Given the description of an element on the screen output the (x, y) to click on. 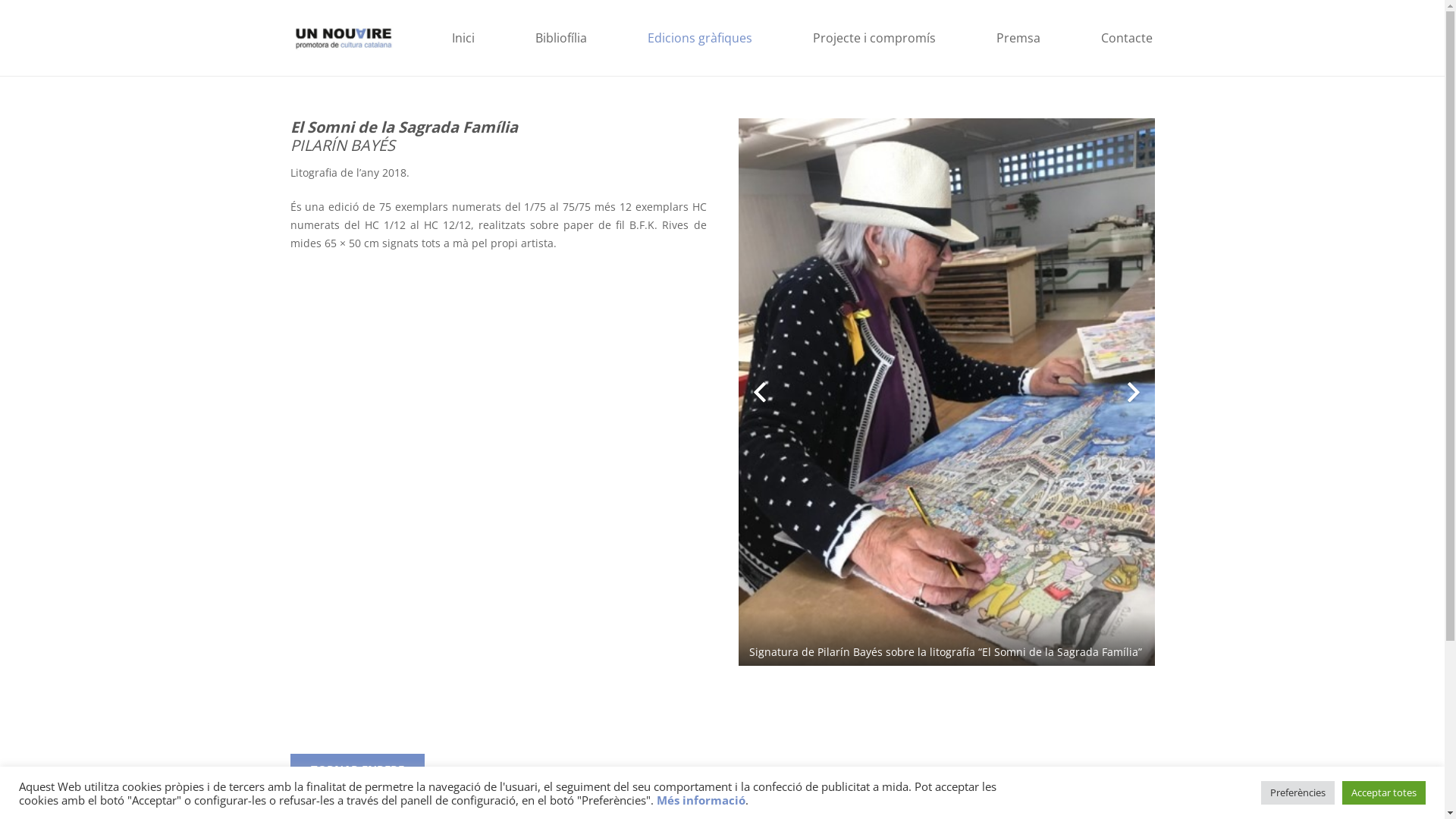
Acceptar totes Element type: text (1383, 792)
Contacte Element type: text (1126, 37)
Inici Element type: text (463, 37)
Premsa Element type: text (1018, 37)
TORNAR ENRERE Element type: text (356, 769)
